Given the description of an element on the screen output the (x, y) to click on. 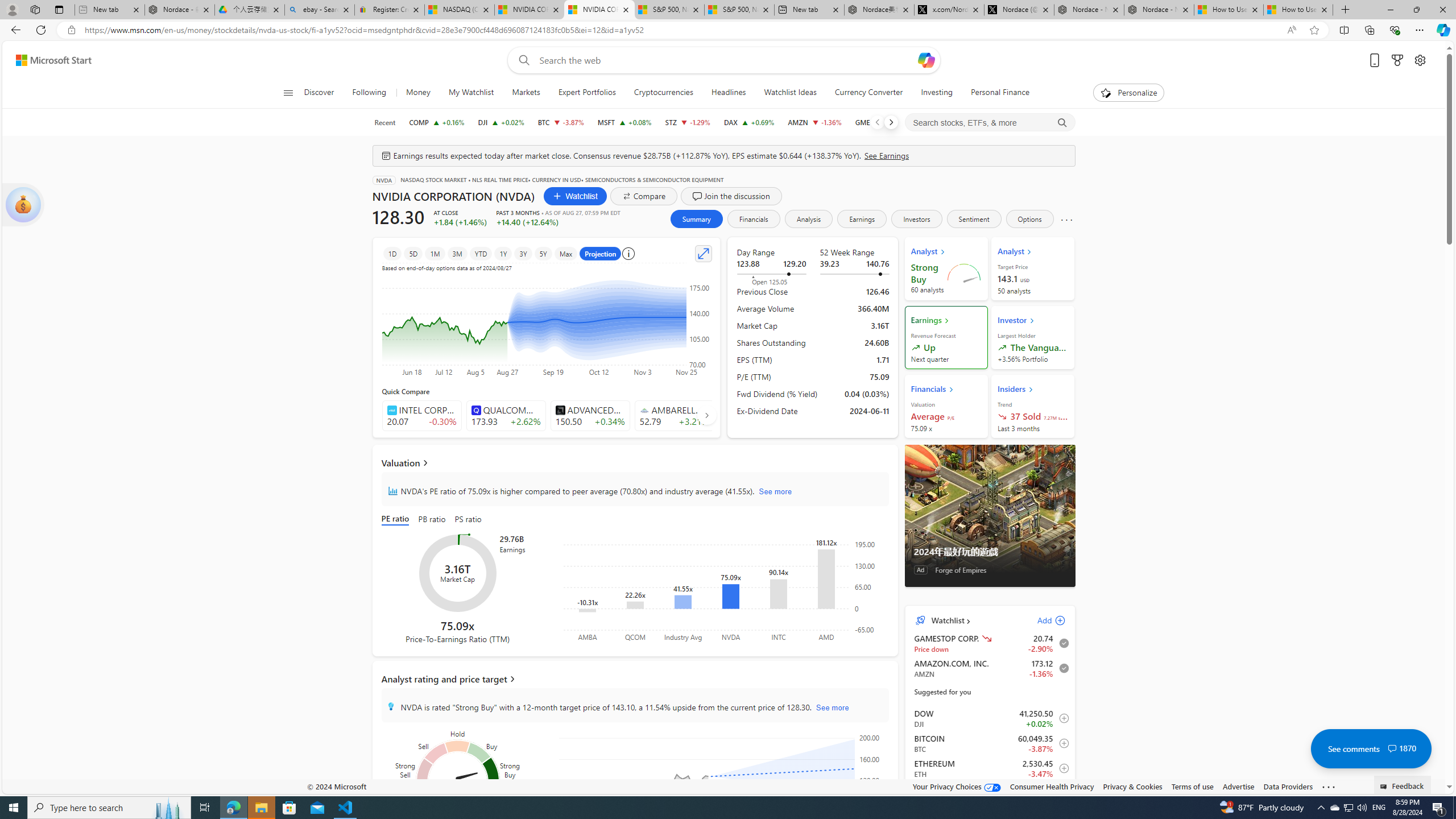
x.com/NordaceOfficial (949, 9)
Your Privacy Choices (956, 785)
Previous (876, 122)
Valuation (635, 462)
Expert Portfolios (586, 92)
Markets (526, 92)
Summary (695, 218)
Expert Portfolios (586, 92)
Sentiment (973, 218)
COMP NASDAQ increase 17,754.82 +29.06 +0.16% (436, 122)
Class: oneFooter_seeMore-DS-EntryPoint1-1 (1328, 786)
